Given the description of an element on the screen output the (x, y) to click on. 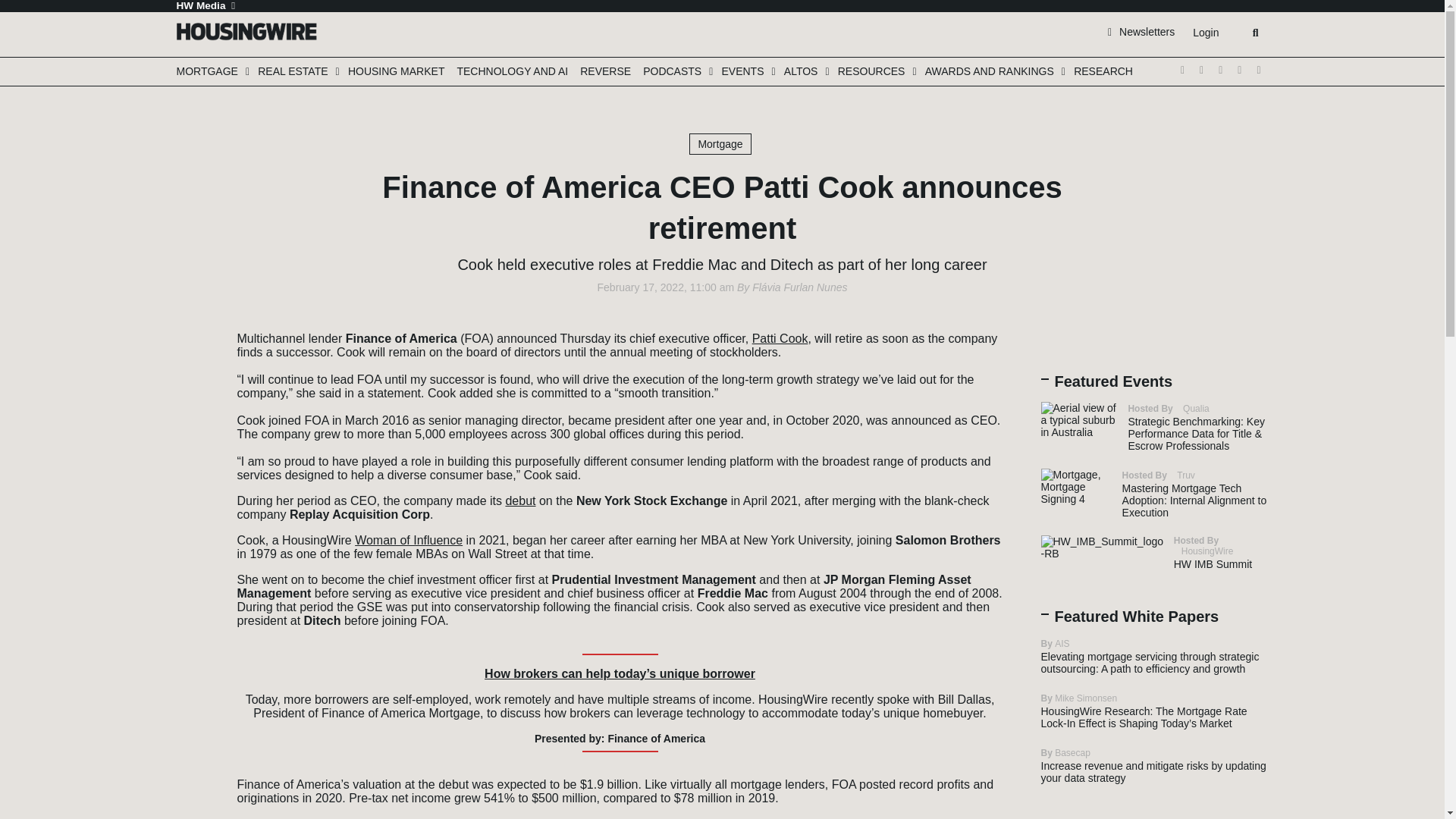
Click to share on Facebook (192, 356)
Click to copy link (192, 424)
Click to share on Twitter (192, 333)
Newsletters (1141, 31)
Click to share on LinkedIn (192, 379)
Click to email a link to a friend (192, 401)
Login (1205, 32)
